Given the description of an element on the screen output the (x, y) to click on. 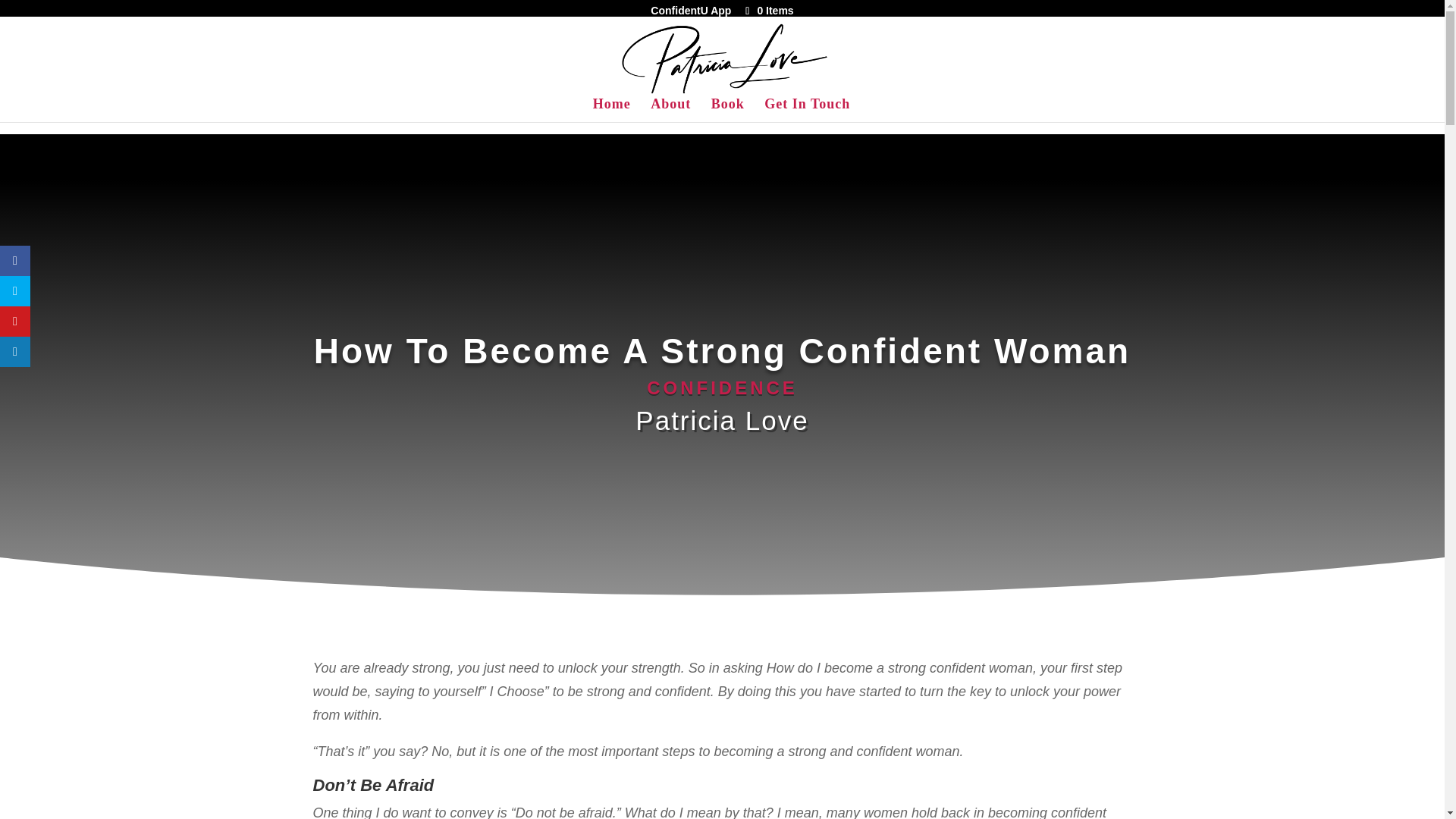
0 Items (767, 10)
Get In Touch (807, 110)
Book (727, 110)
Home (611, 110)
CONFIDENCE (721, 387)
ConfidentU App (690, 9)
About (670, 110)
